Given the description of an element on the screen output the (x, y) to click on. 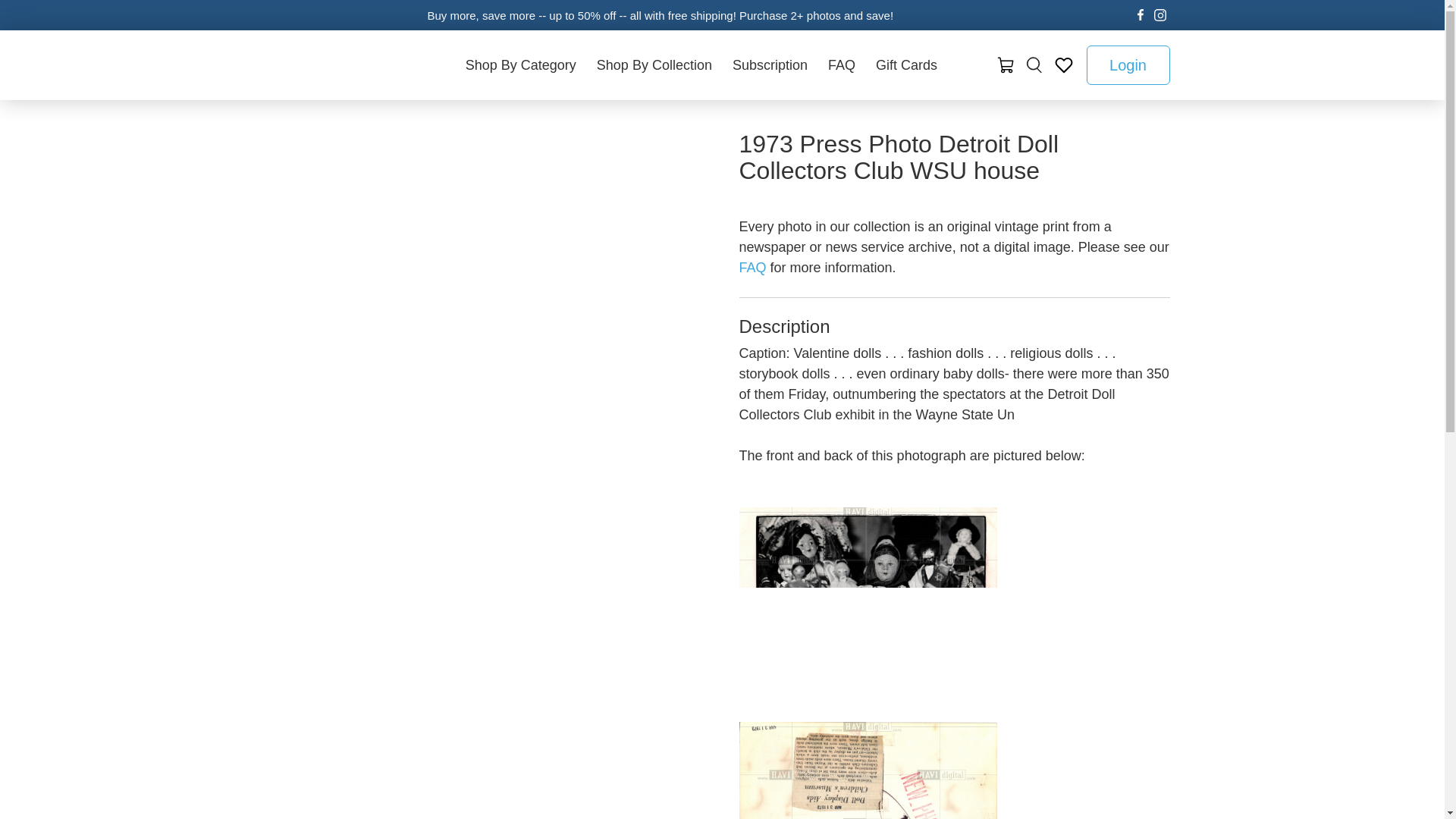
Login (1127, 65)
Gift Cards (906, 64)
Shop By Category (520, 64)
Shop By Collection (654, 64)
Subscription (769, 64)
Historic Images (342, 64)
Historic Images on Instagram (1160, 15)
Historic Images on Facebook (1140, 15)
FAQ (840, 64)
Historic Images Frequently Asked Questions (754, 267)
